Given the description of an element on the screen output the (x, y) to click on. 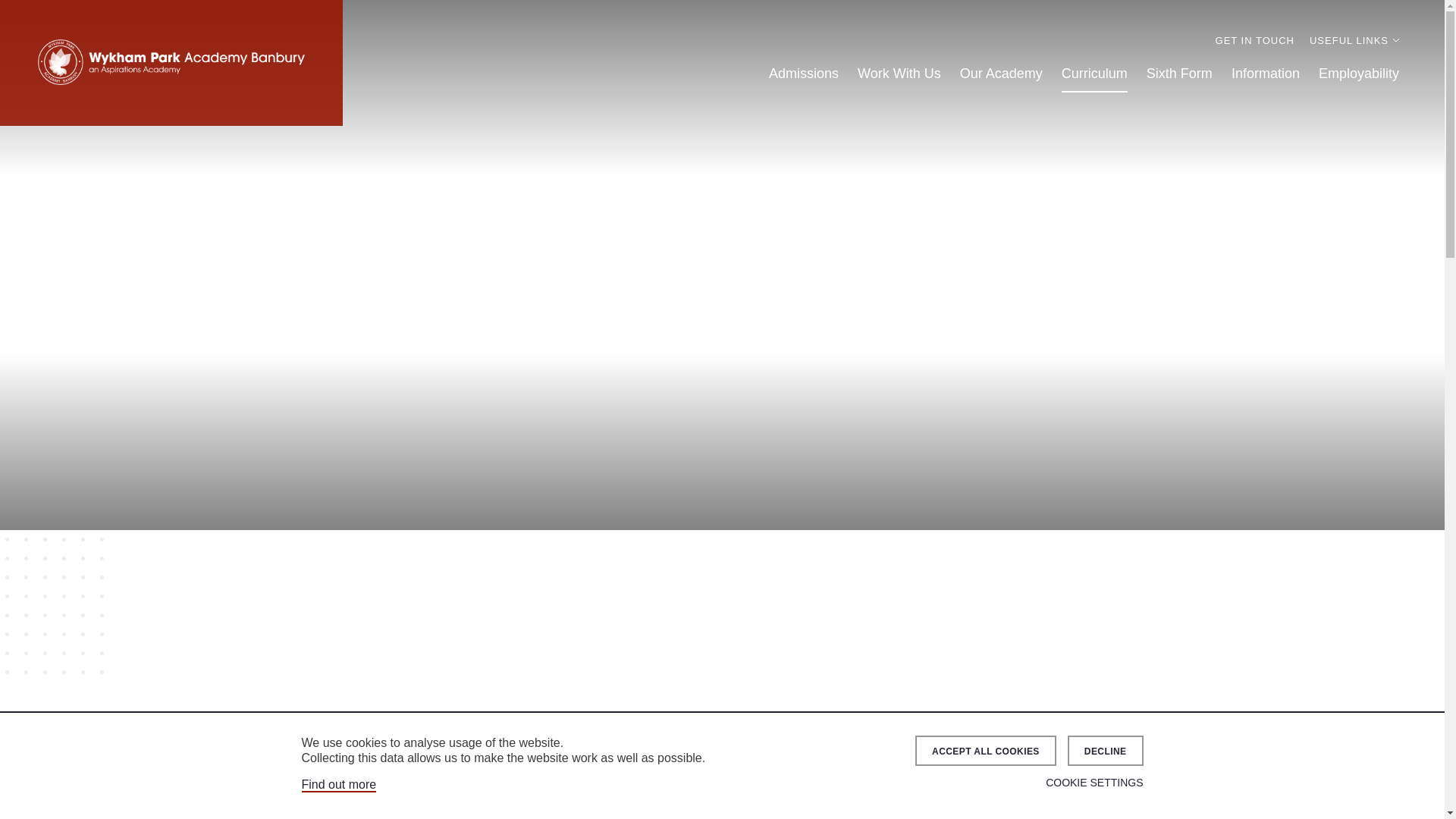
Our Academy (1000, 73)
Curriculum (1093, 73)
Work With Us (898, 73)
Admissions (803, 73)
GET IN TOUCH (1254, 40)
